Given the description of an element on the screen output the (x, y) to click on. 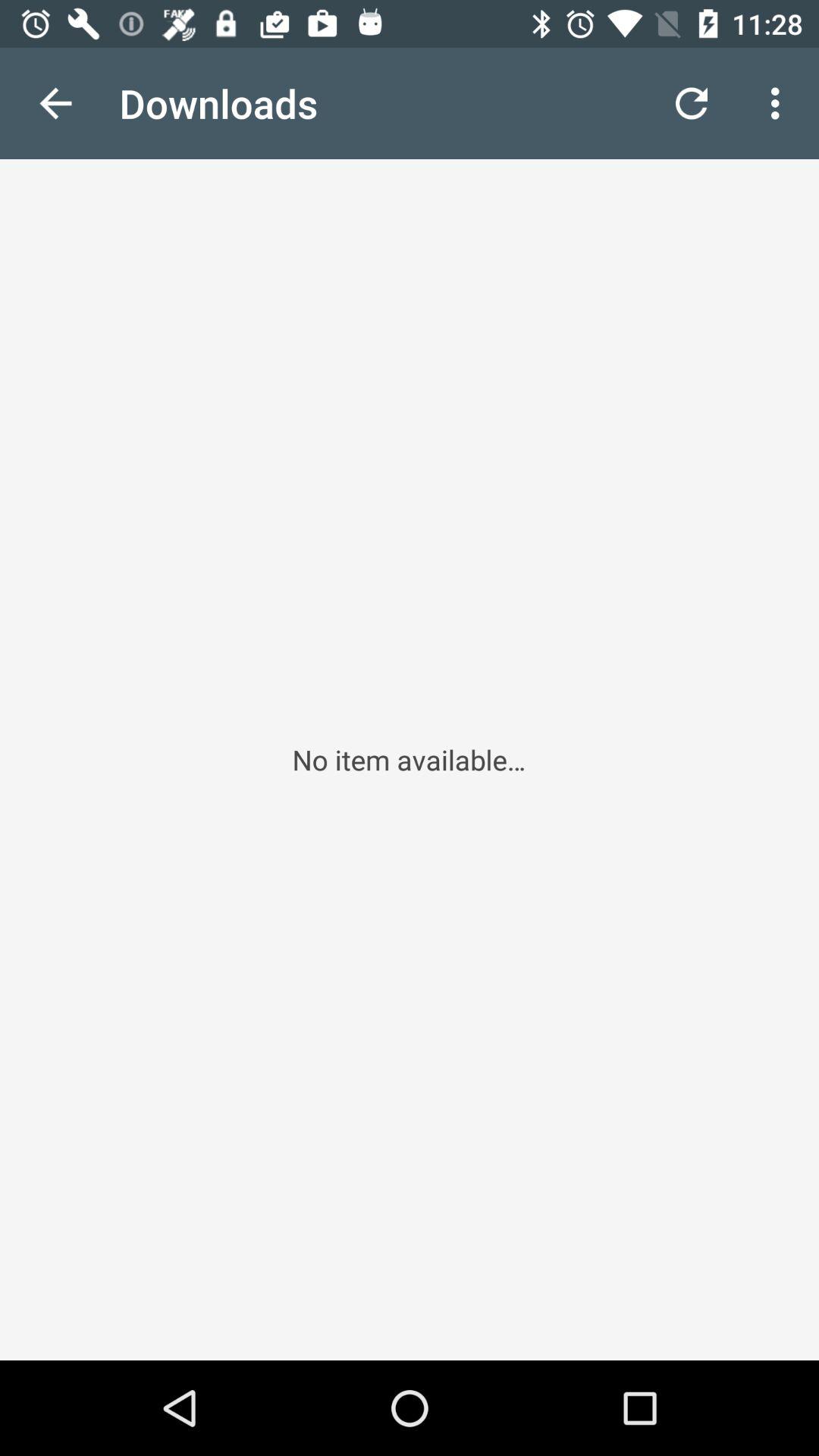
tap app next to downloads icon (55, 103)
